Given the description of an element on the screen output the (x, y) to click on. 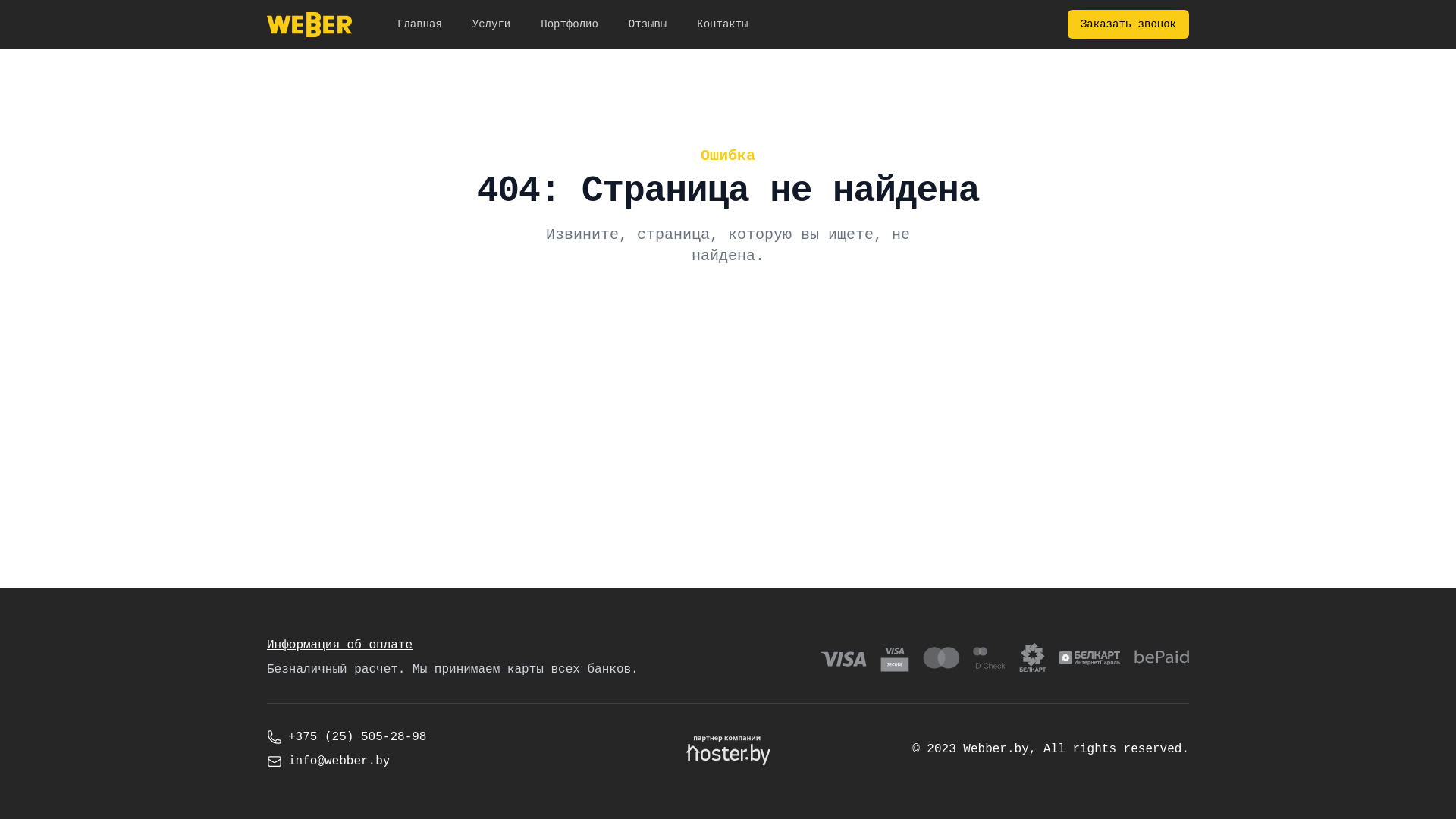
info@webber.by Element type: text (419, 761)
+375 (25) 505-28-98 Element type: text (419, 737)
